Given the description of an element on the screen output the (x, y) to click on. 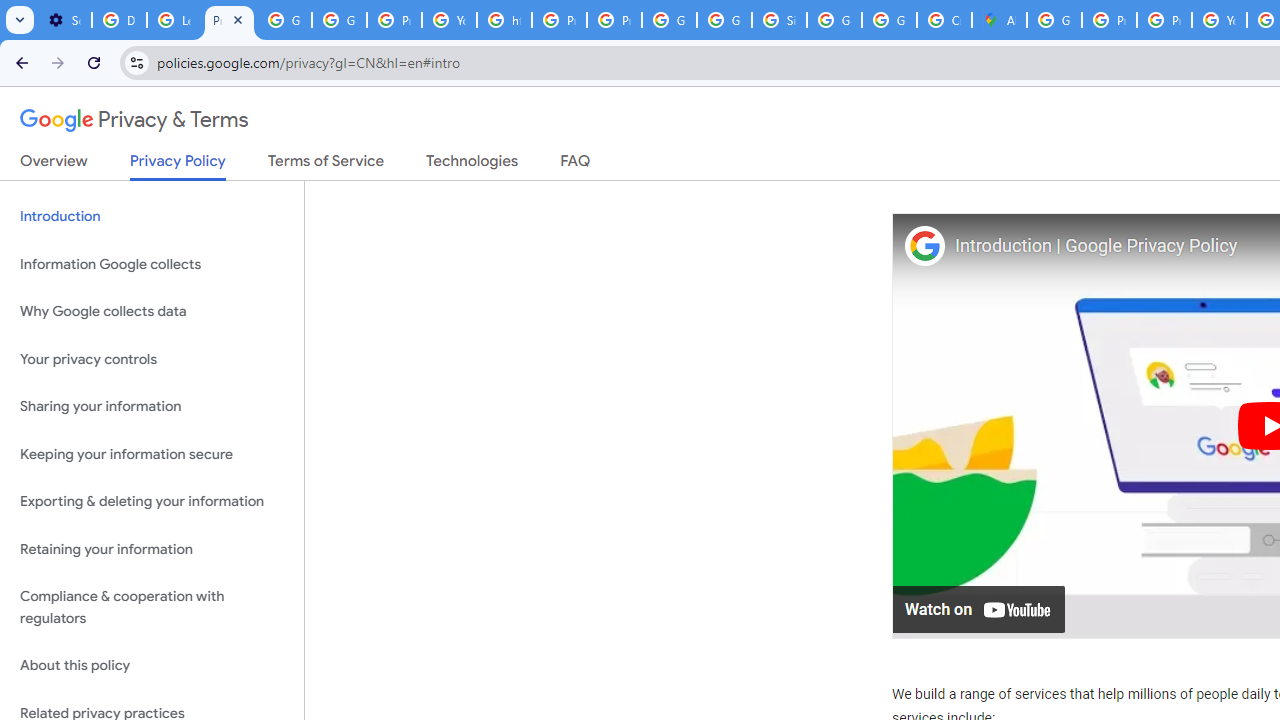
About this policy (152, 666)
Exporting & deleting your information (152, 502)
YouTube (449, 20)
Compliance & cooperation with regulators (152, 607)
Privacy Policy (177, 166)
Terms of Service (326, 165)
FAQ (575, 165)
Your privacy controls (152, 358)
Technologies (472, 165)
YouTube (1218, 20)
Forward (57, 62)
